Given the description of an element on the screen output the (x, y) to click on. 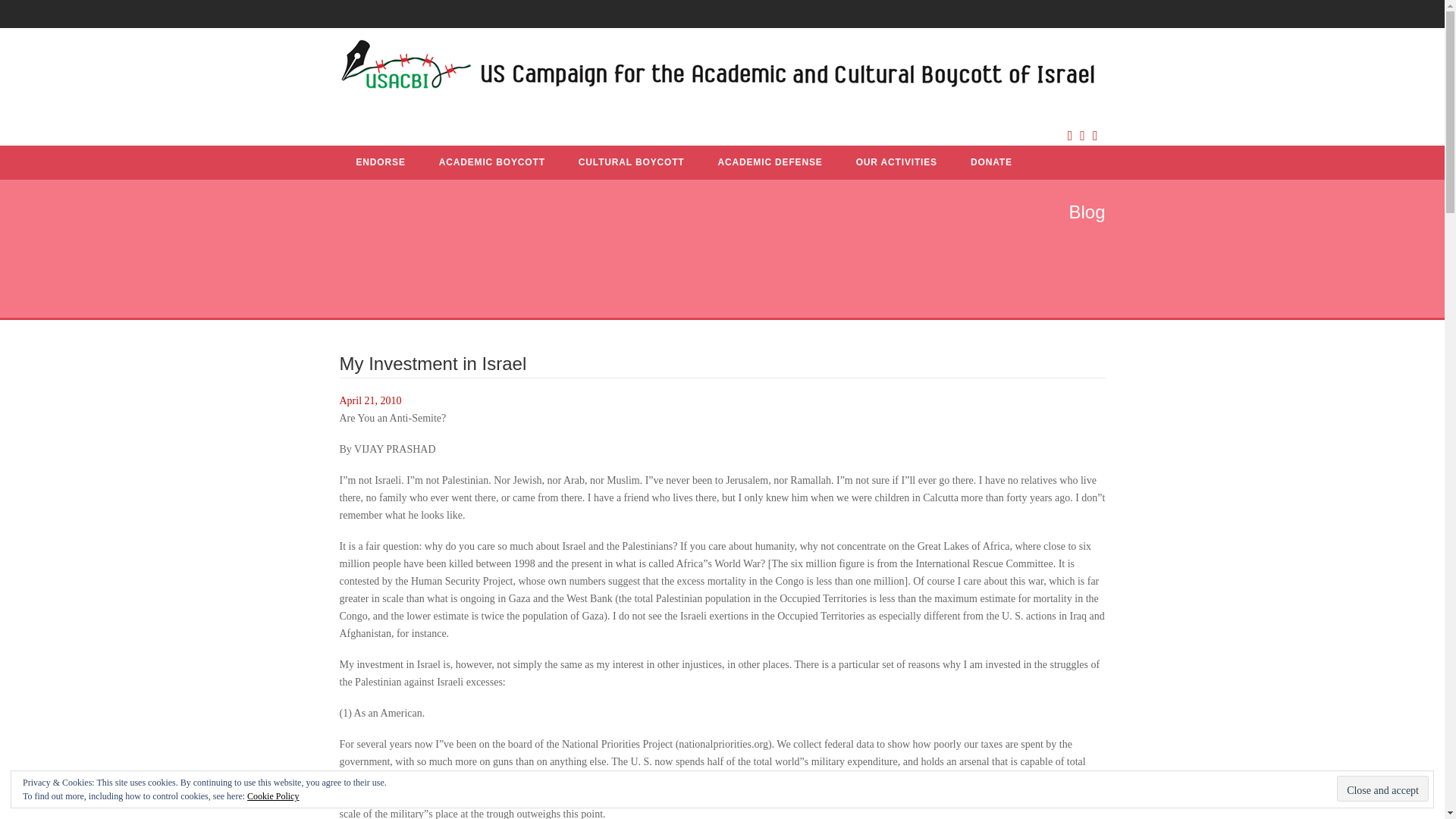
ACADEMIC BOYCOTT (491, 162)
ACADEMIC DEFENSE (769, 162)
OUR ACTIVITIES (896, 162)
CULTURAL BOYCOTT (631, 162)
ENDORSE (380, 162)
Close and accept (1382, 788)
US Campaign for the Academic and Cultural Boycott of Israel (718, 68)
